Given the description of an element on the screen output the (x, y) to click on. 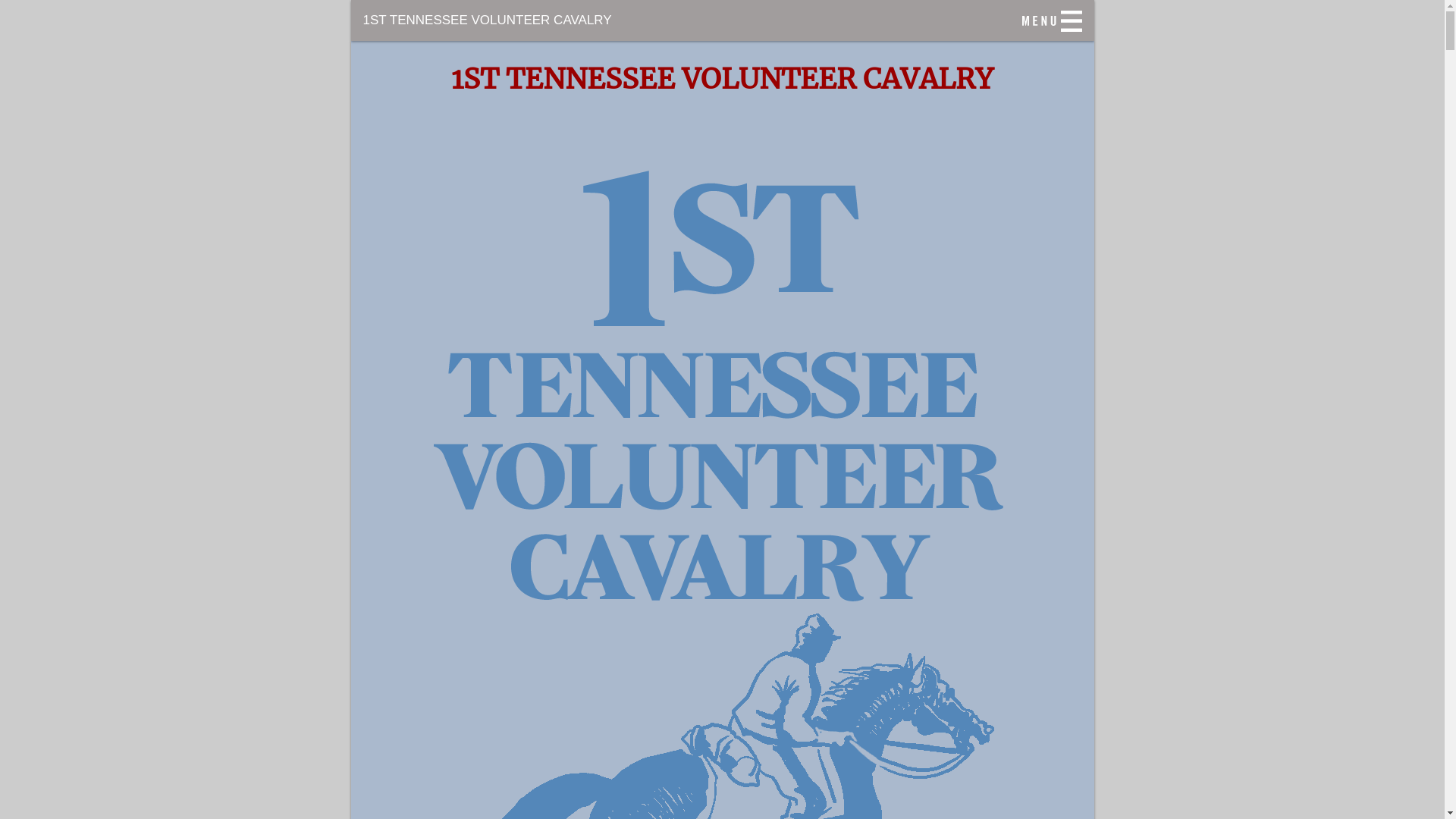
1ST TENNESSEE VOLUNTEER CAVALRY Element type: text (721, 20)
